Given the description of an element on the screen output the (x, y) to click on. 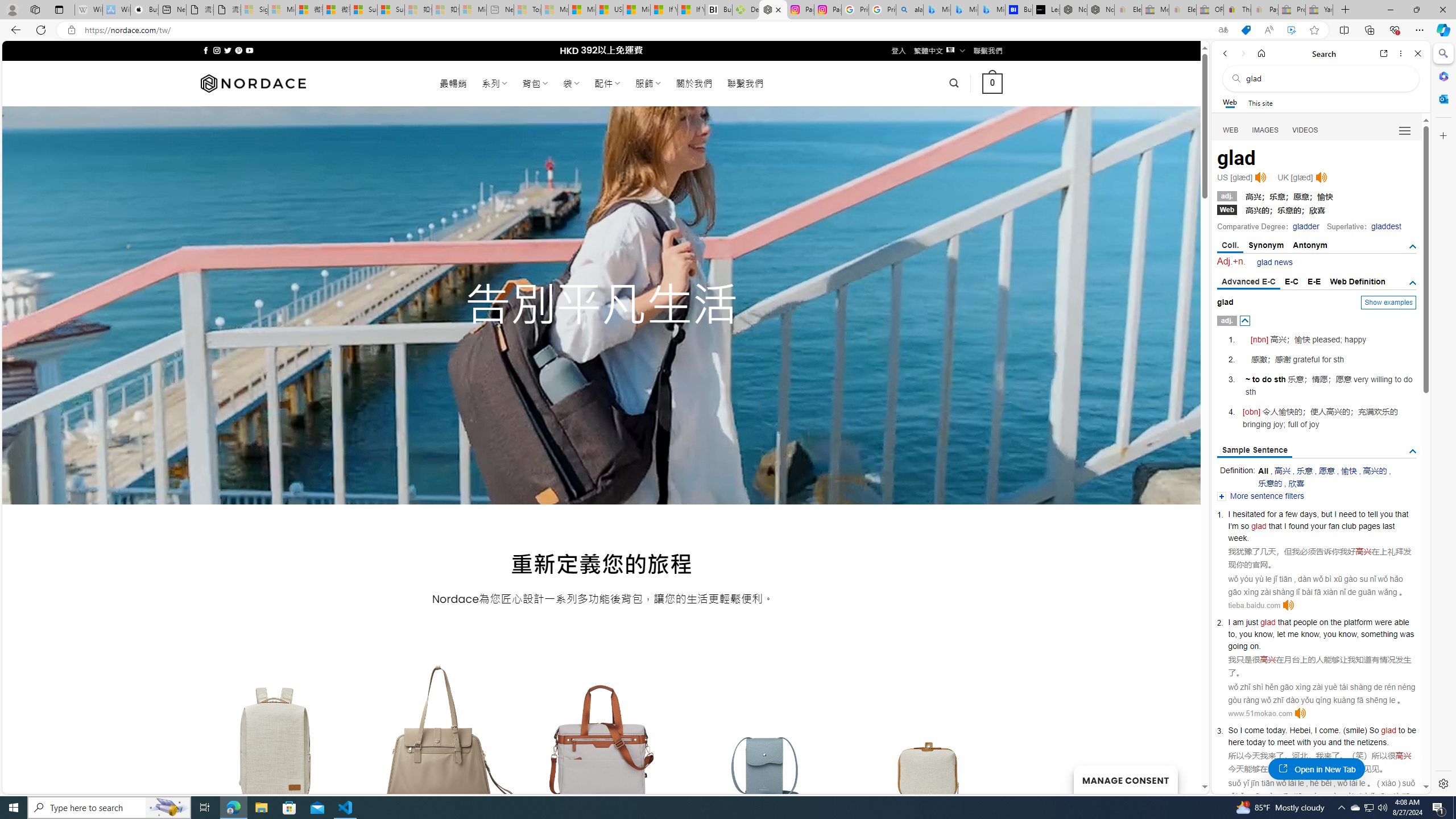
hesitated (1248, 513)
E-C (1291, 281)
MANAGE CONSENT (1125, 779)
) (1365, 729)
